Given the description of an element on the screen output the (x, y) to click on. 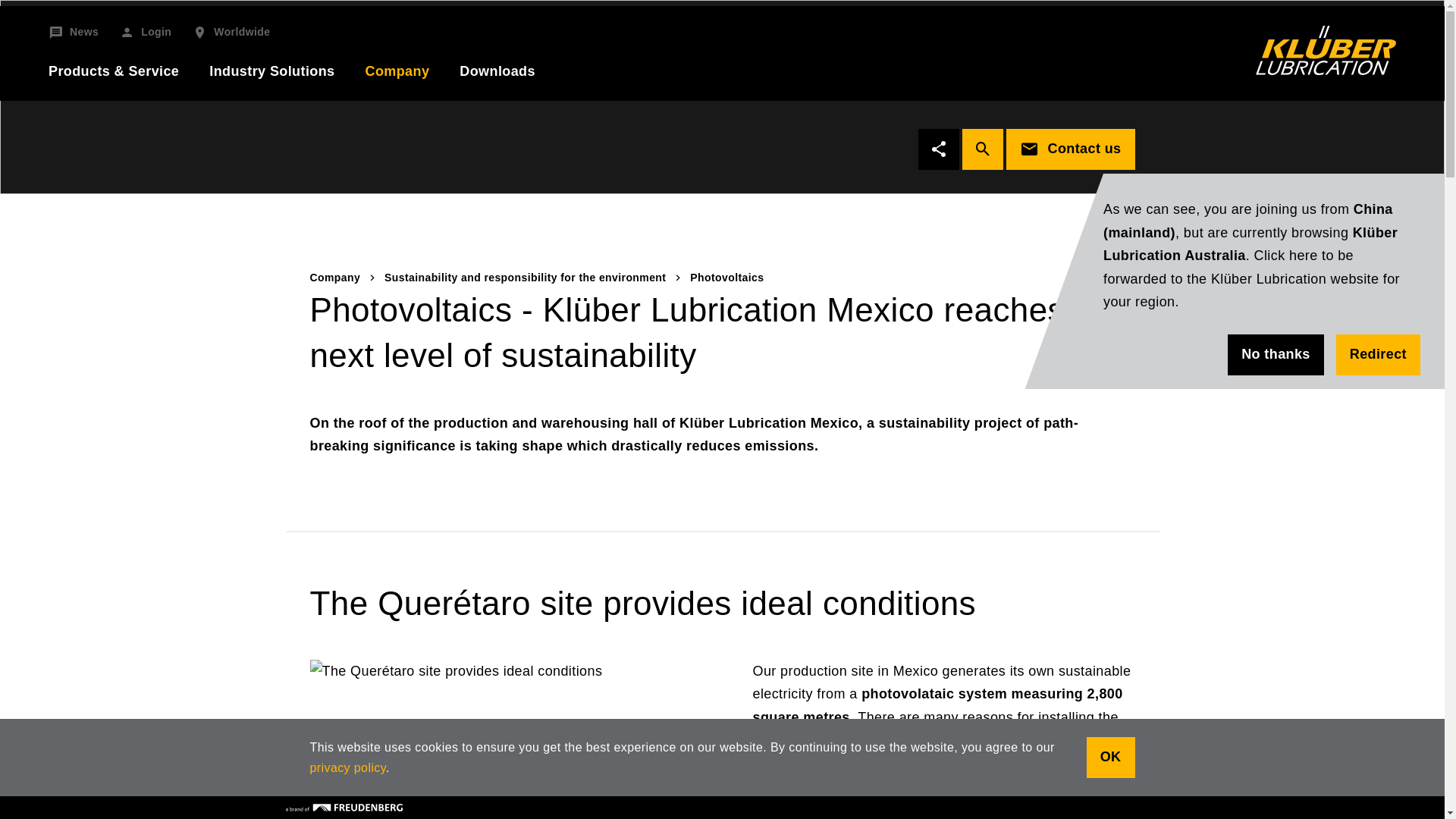
News (73, 32)
OK (1110, 757)
Login (145, 32)
privacy policy (346, 767)
Worldwide (230, 32)
